Given the description of an element on the screen output the (x, y) to click on. 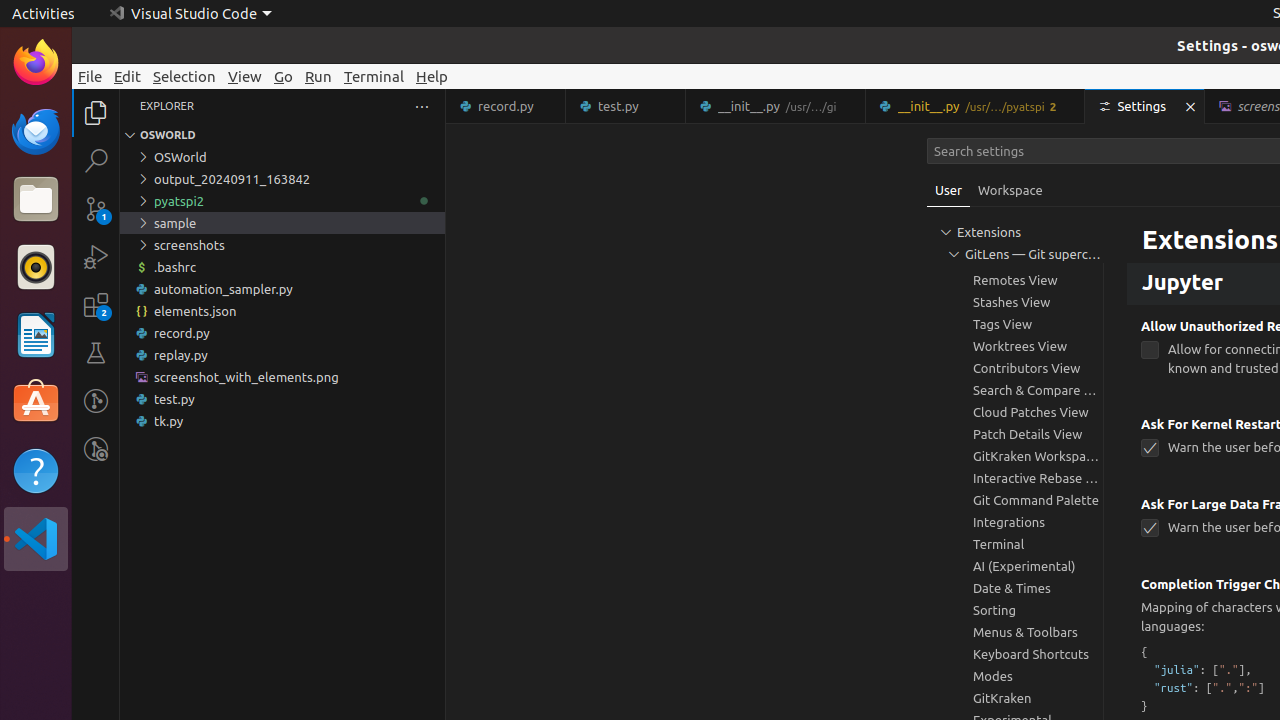
.bashrc Element type: tree-item (282, 267)
Run Element type: push-button (318, 76)
Menus & Toolbars, group Element type: tree-item (1015, 632)
Search (Ctrl+Shift+F) Element type: page-tab (96, 160)
Git Command Palette, group Element type: tree-item (1015, 500)
